Given the description of an element on the screen output the (x, y) to click on. 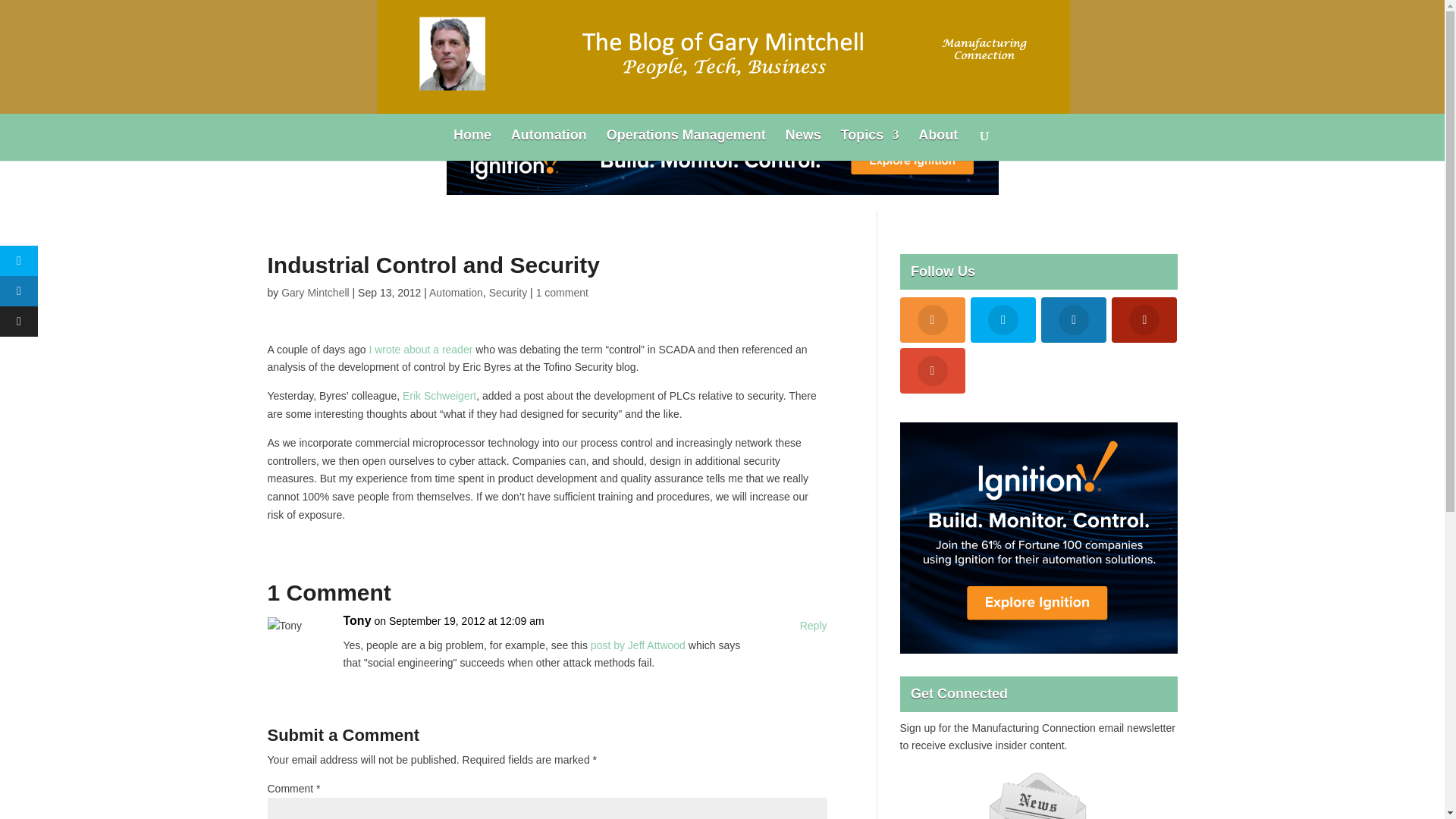
News (803, 144)
Automation (548, 144)
post by Jeff Attwood (638, 645)
Operations Management (686, 144)
Home (472, 144)
1 comment (561, 292)
Reply (813, 626)
Erik Schweigert (439, 395)
Posts by Gary Mintchell (315, 292)
Security (508, 292)
